Given the description of an element on the screen output the (x, y) to click on. 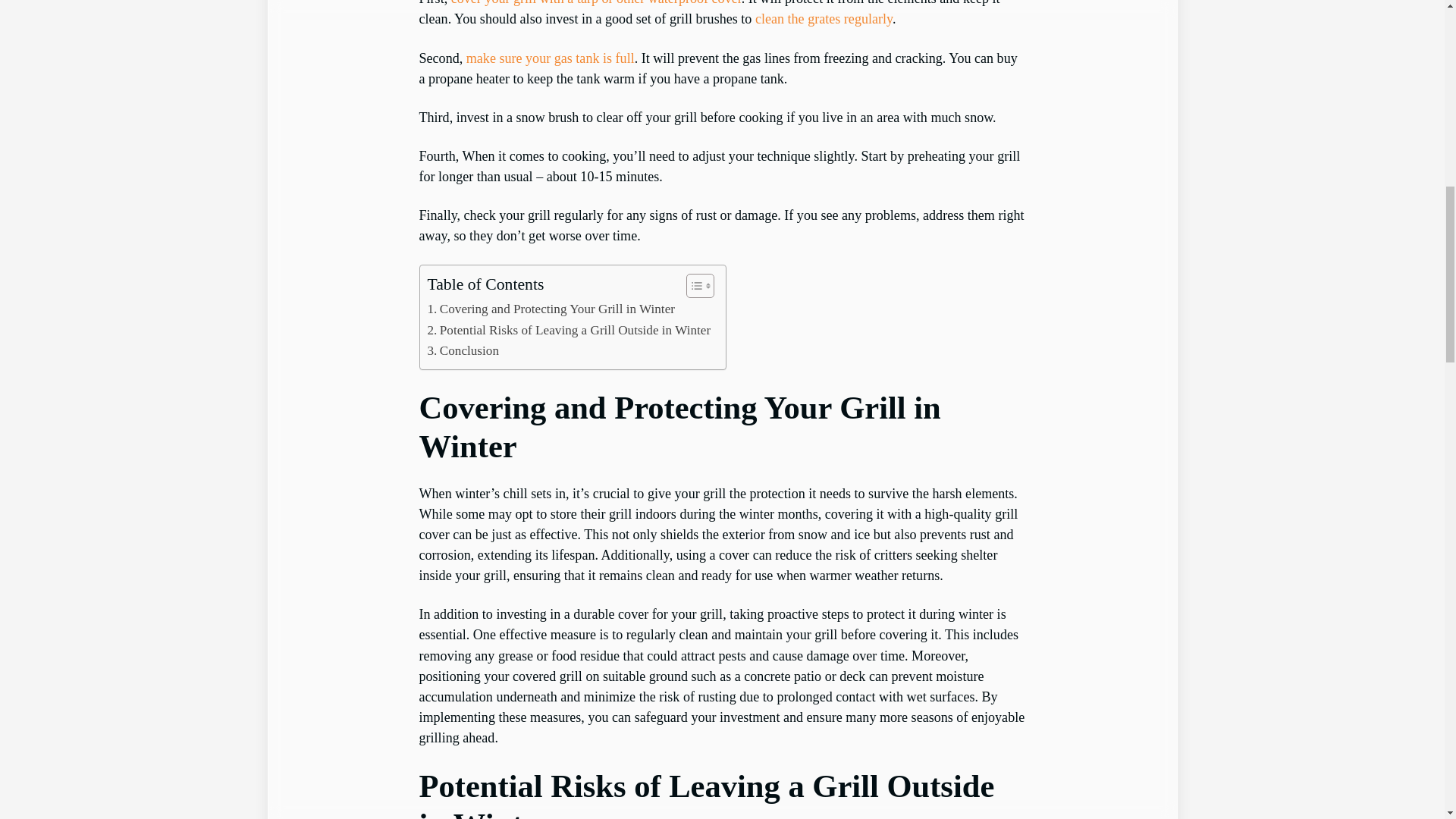
Potential Risks of Leaving a Grill Outside in Winter (569, 330)
Potential Risks of Leaving a Grill Outside in Winter (569, 330)
cover your grill with a tarp or other waterproof cover (596, 2)
Conclusion (463, 350)
Covering and Protecting Your Grill in Winter (551, 308)
Conclusion (463, 350)
Covering and Protecting Your Grill in Winter (551, 308)
clean the grates regularly (823, 18)
make sure your gas tank is full (549, 58)
